Given the description of an element on the screen output the (x, y) to click on. 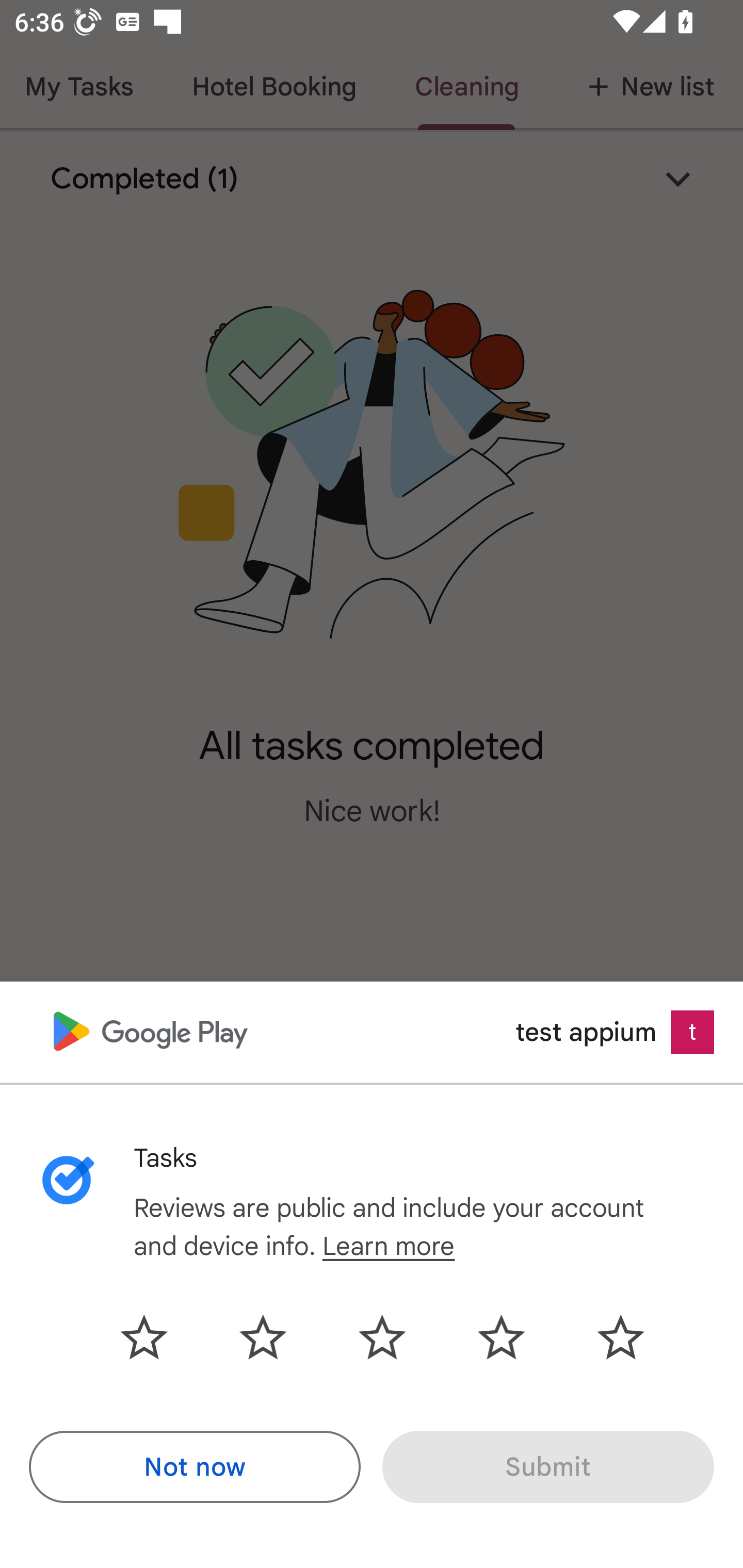
First star unselected (159, 1336)
Second star unselected (262, 1336)
Third star unselected (381, 1336)
Fourth star unselected (500, 1336)
Fifth star unselected (604, 1336)
Not now (194, 1466)
